Given the description of an element on the screen output the (x, y) to click on. 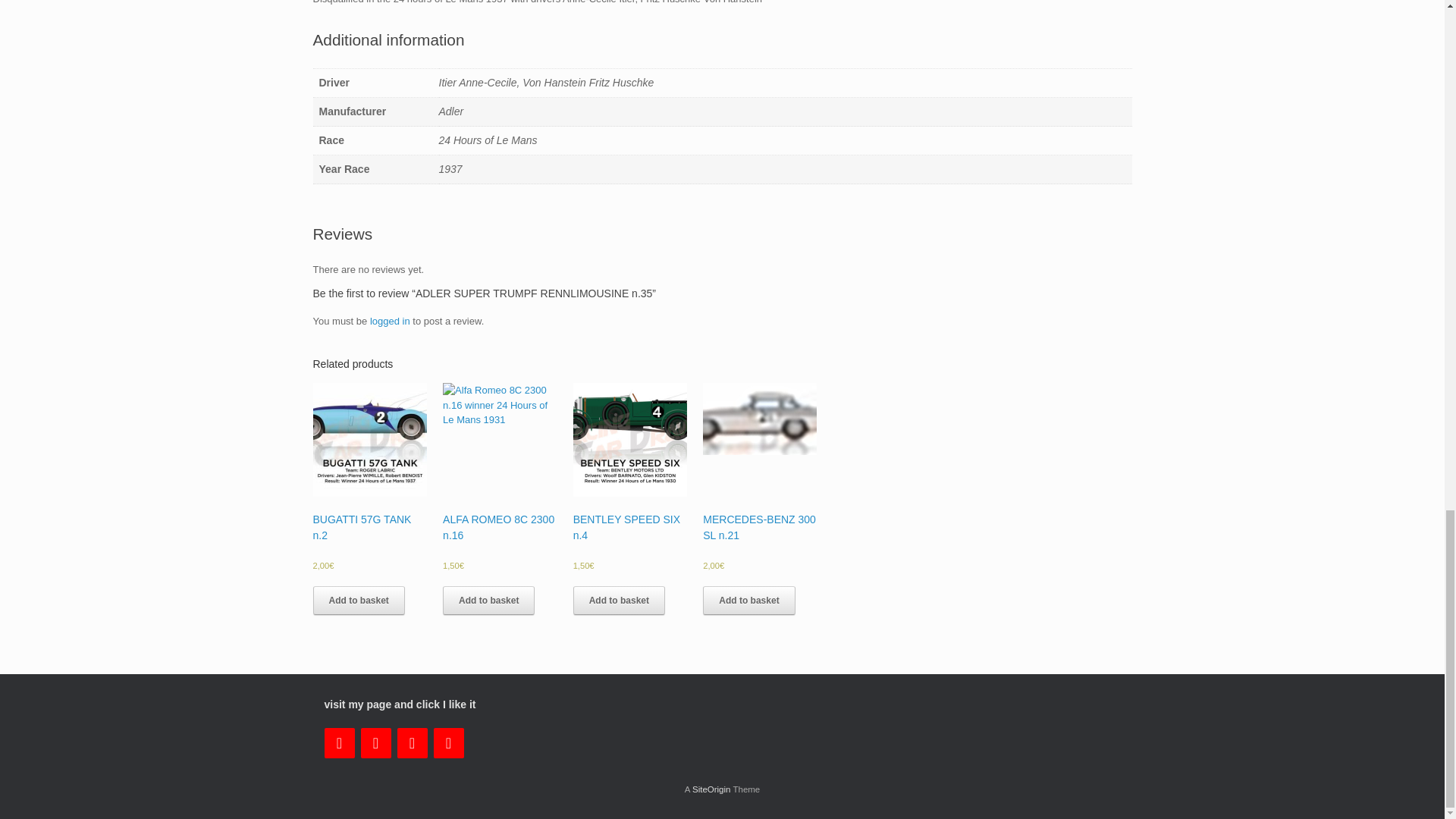
Instagram (412, 743)
Add to basket (488, 600)
Add to basket (748, 600)
Contact (339, 743)
Add to basket (619, 600)
Pinterest (448, 743)
Add to basket (358, 600)
Facebook (376, 743)
logged in (389, 320)
